Given the description of an element on the screen output the (x, y) to click on. 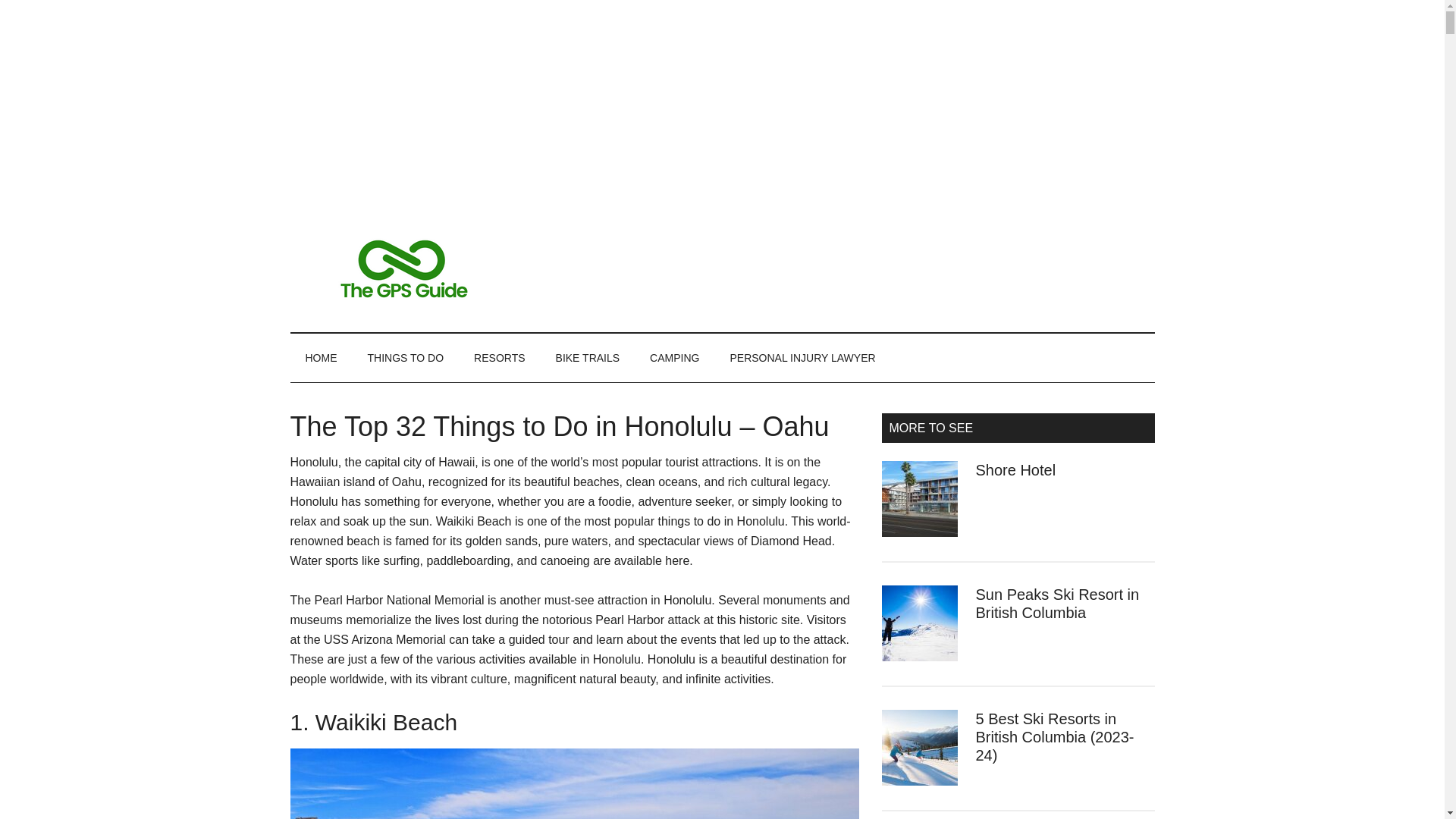
RESORTS (499, 357)
PERSONAL INJURY LAWYER (801, 357)
CAMPING (674, 357)
cropped-logo.png - The GPS Guide (402, 269)
best-waikiki-beach-honolulu-oahu-hi - The GPS Guide (574, 783)
BIKE TRAILS (587, 357)
Sun Peaks Ski Resort in British Columbia (1056, 603)
THINGS TO DO (405, 357)
